Given the description of an element on the screen output the (x, y) to click on. 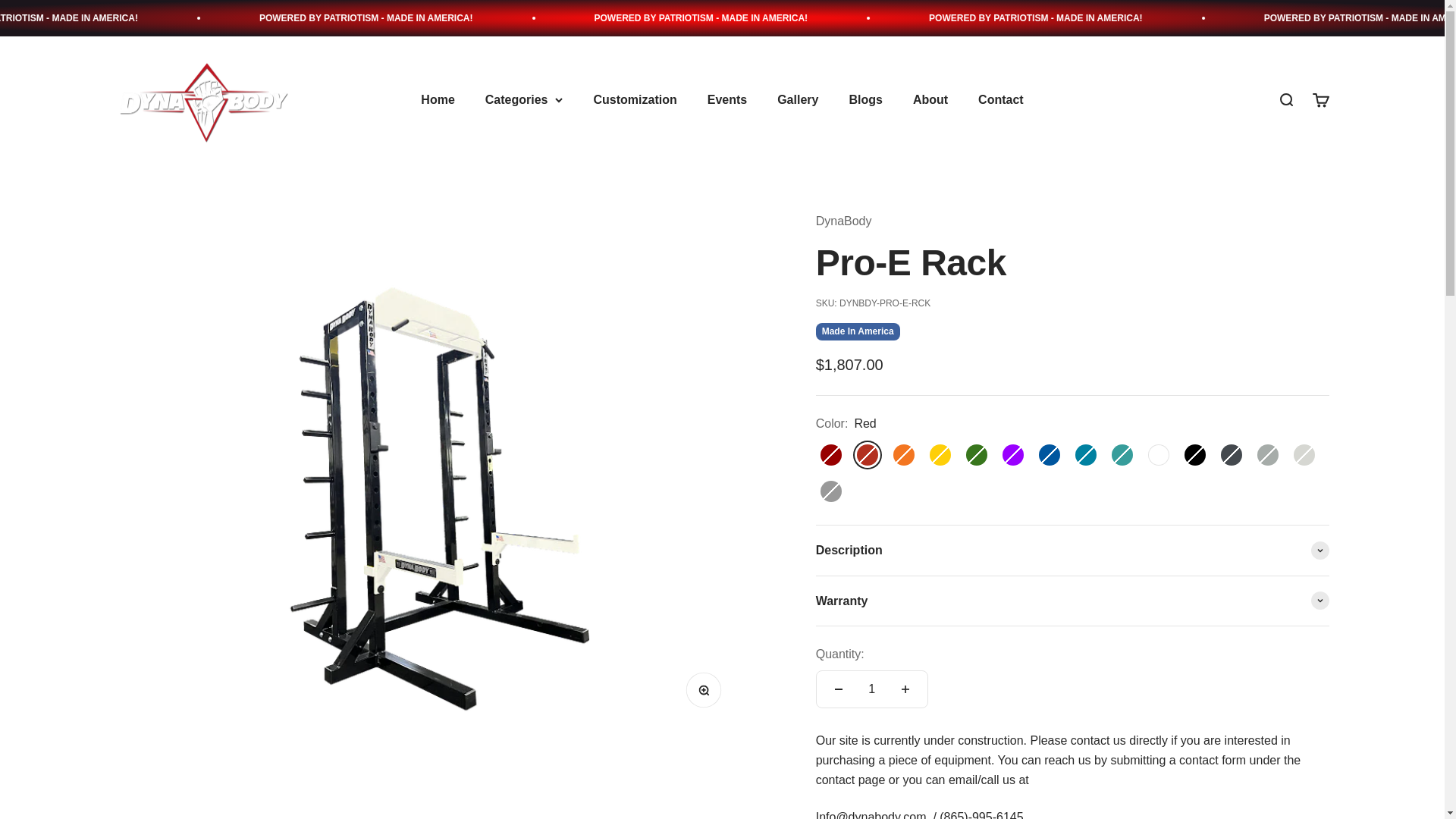
Contact (1000, 99)
DynaBody (204, 99)
Gallery (797, 99)
Zoom (707, 694)
Open search (1285, 99)
About (929, 99)
Customization (634, 99)
